Given the description of an element on the screen output the (x, y) to click on. 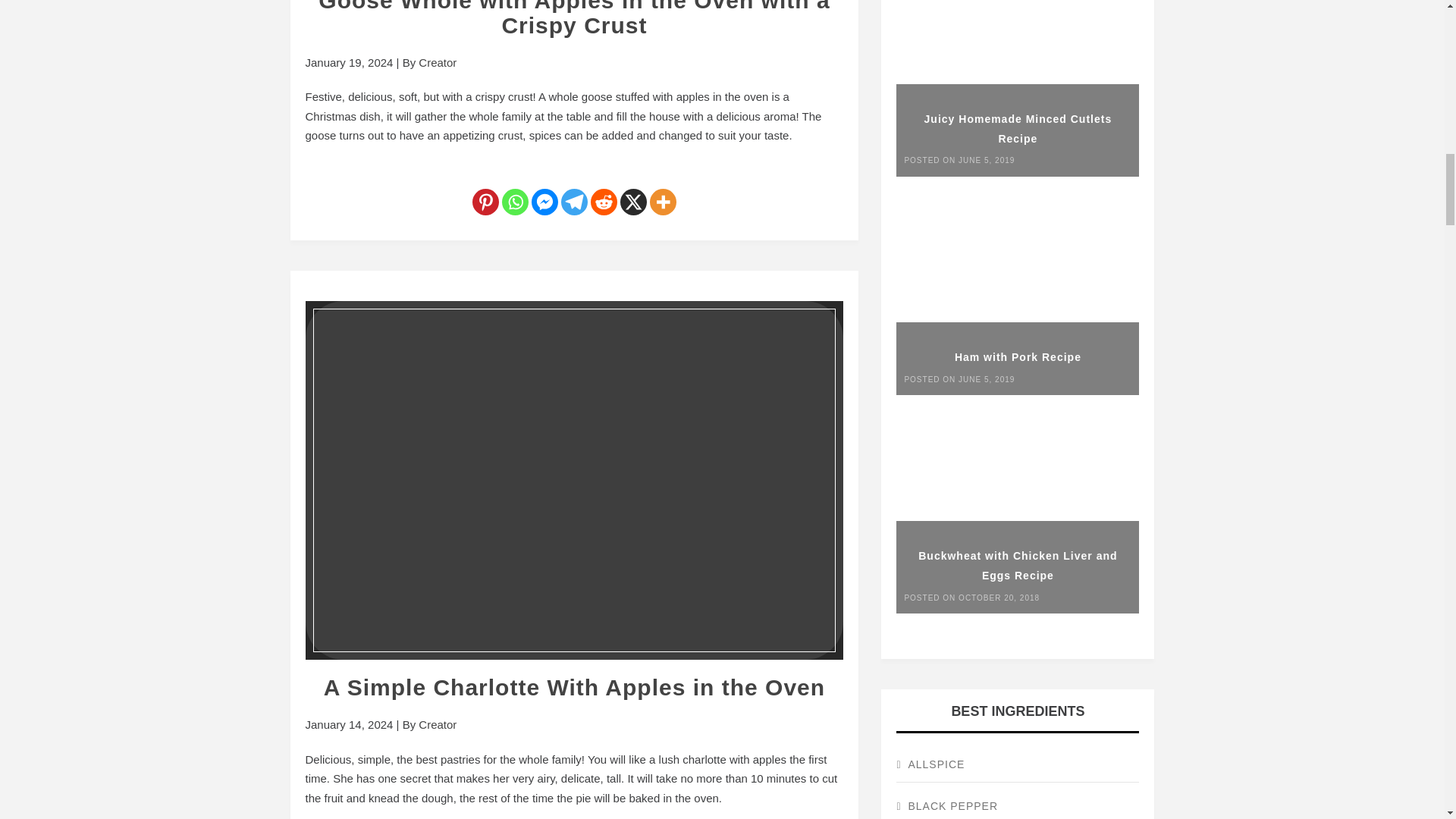
More (663, 189)
Reddit (604, 189)
Pinterest (485, 189)
Telegram (574, 189)
Whatsapp (515, 189)
X (633, 189)
